Given the description of an element on the screen output the (x, y) to click on. 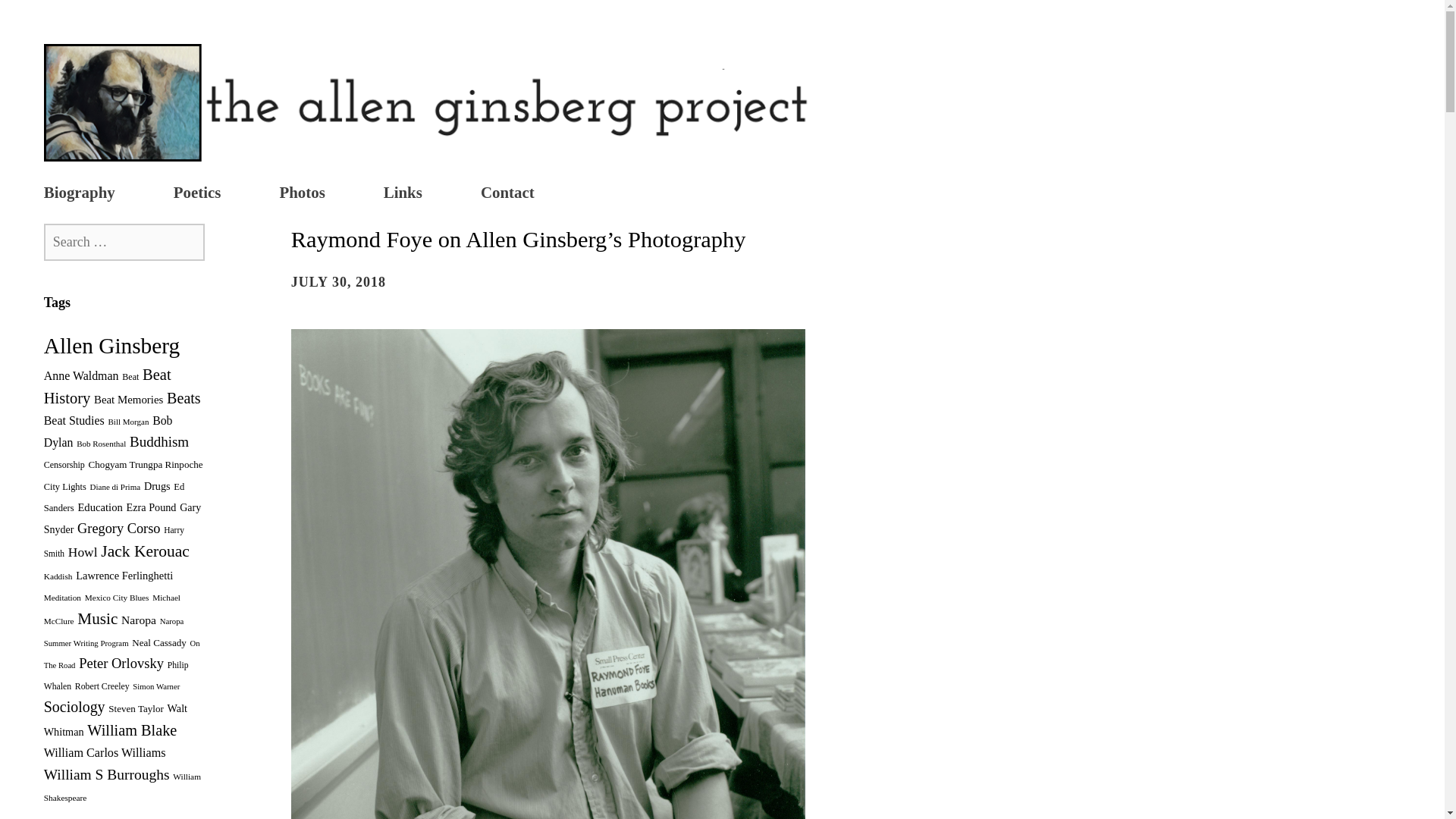
Contact (507, 193)
JULY 30, 2018 (338, 281)
Photos (301, 193)
Biography (79, 193)
Poetics (197, 193)
